Given the description of an element on the screen output the (x, y) to click on. 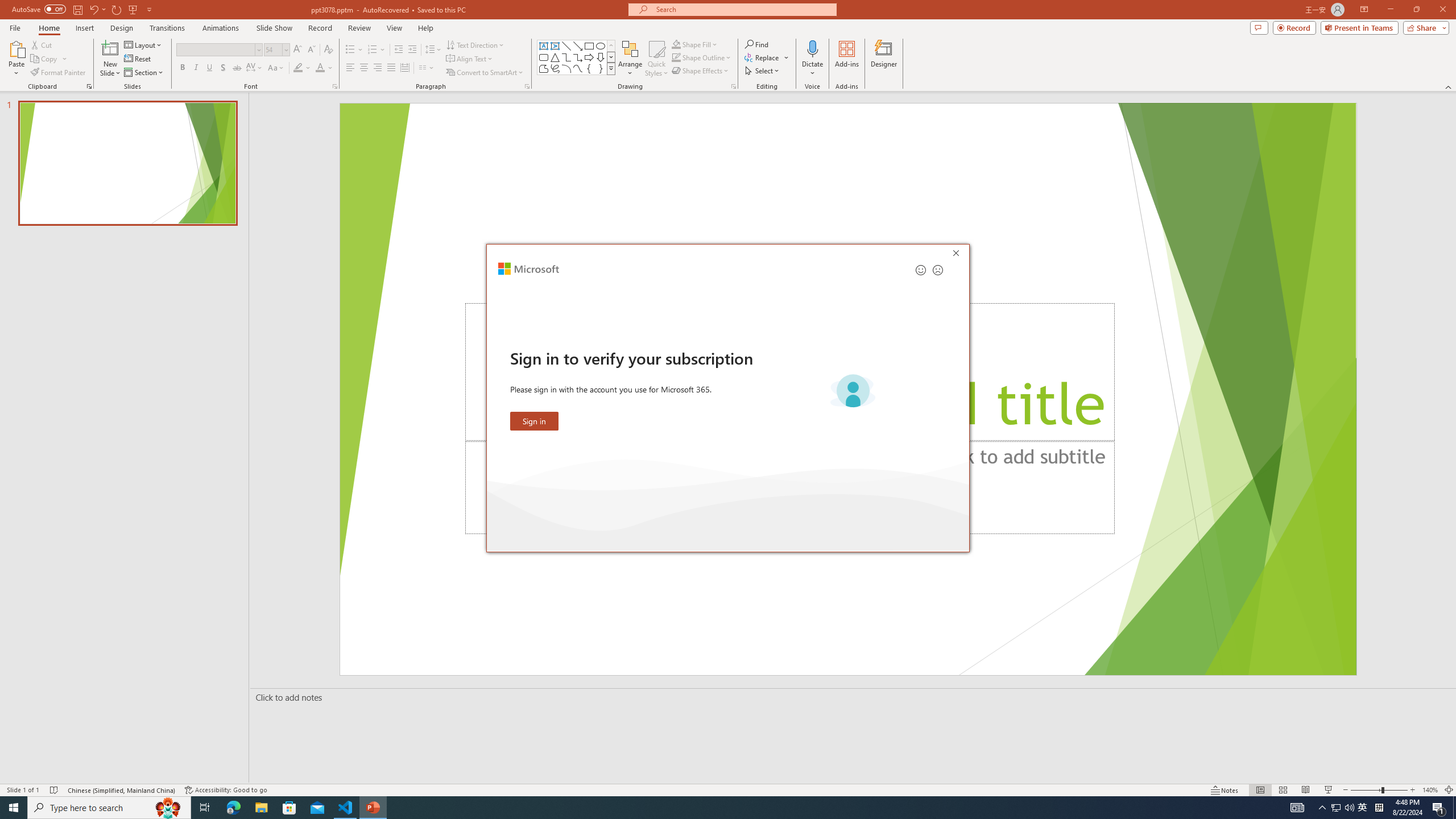
Reset (138, 58)
Distributed (404, 67)
Freeform: Scribble (554, 68)
Shadow (223, 67)
Decrease Indent (398, 49)
Center (363, 67)
Oval (600, 45)
Font... (334, 85)
